Given the description of an element on the screen output the (x, y) to click on. 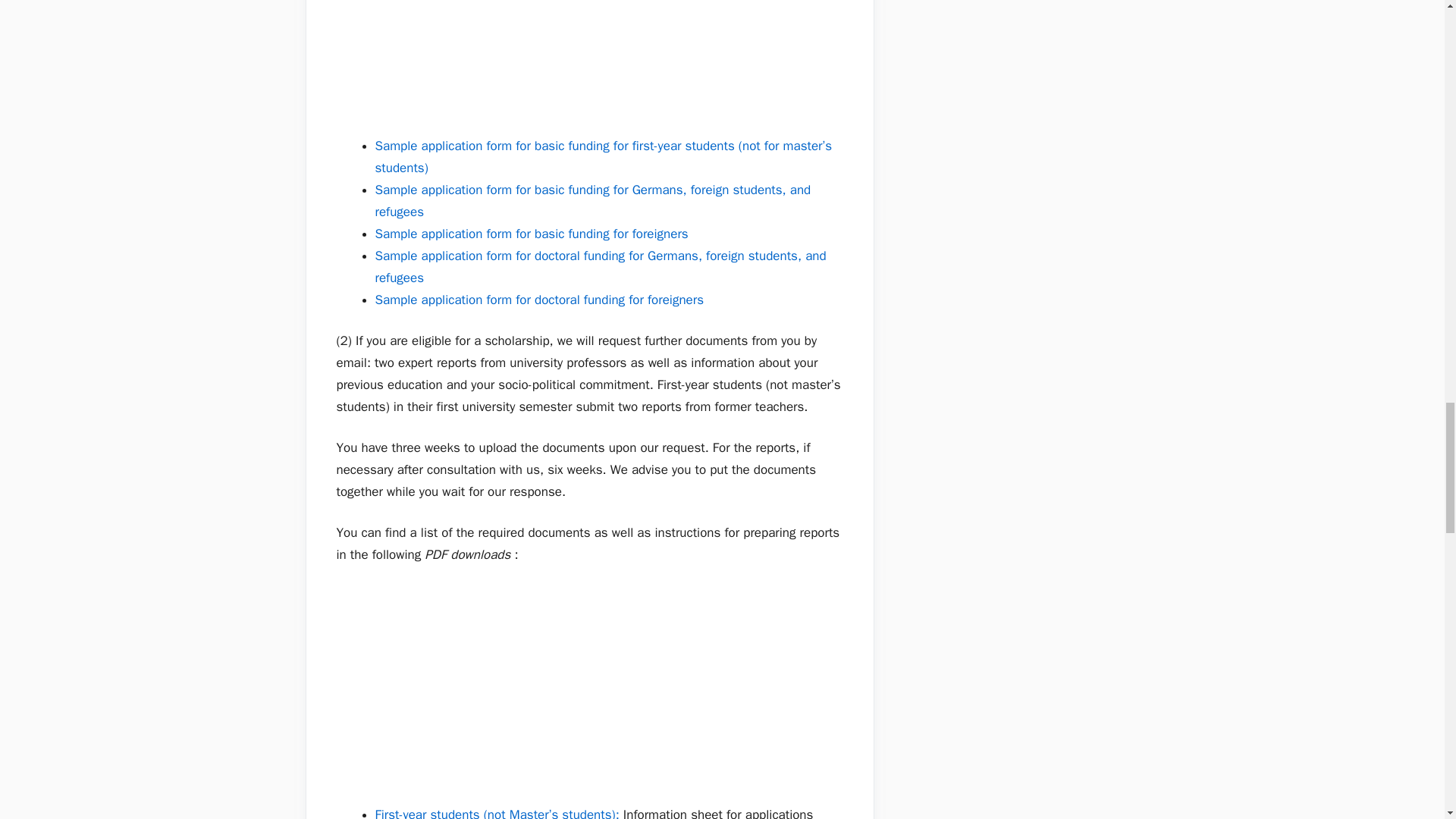
Sample application form for basic funding for foreigners (530, 233)
Sample application form for doctoral funding for foreigners (538, 299)
